Given the description of an element on the screen output the (x, y) to click on. 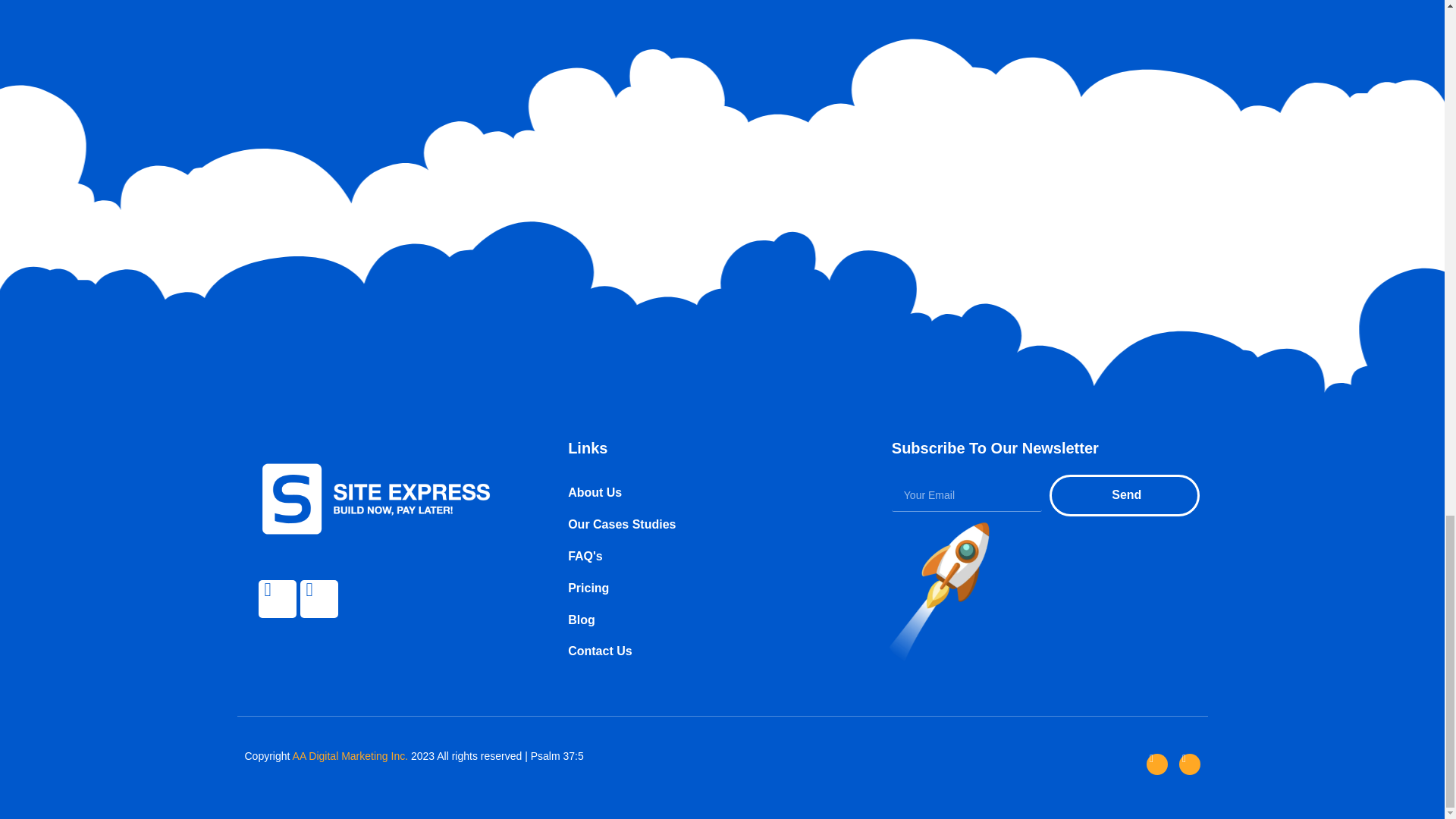
Pricing (699, 588)
Our Cases Studies (699, 525)
Contact Us (699, 651)
Blog (699, 620)
AA Digital Marketing Inc. (350, 756)
Send (1124, 495)
FAQ'S (699, 557)
About Us (699, 493)
